Given the description of an element on the screen output the (x, y) to click on. 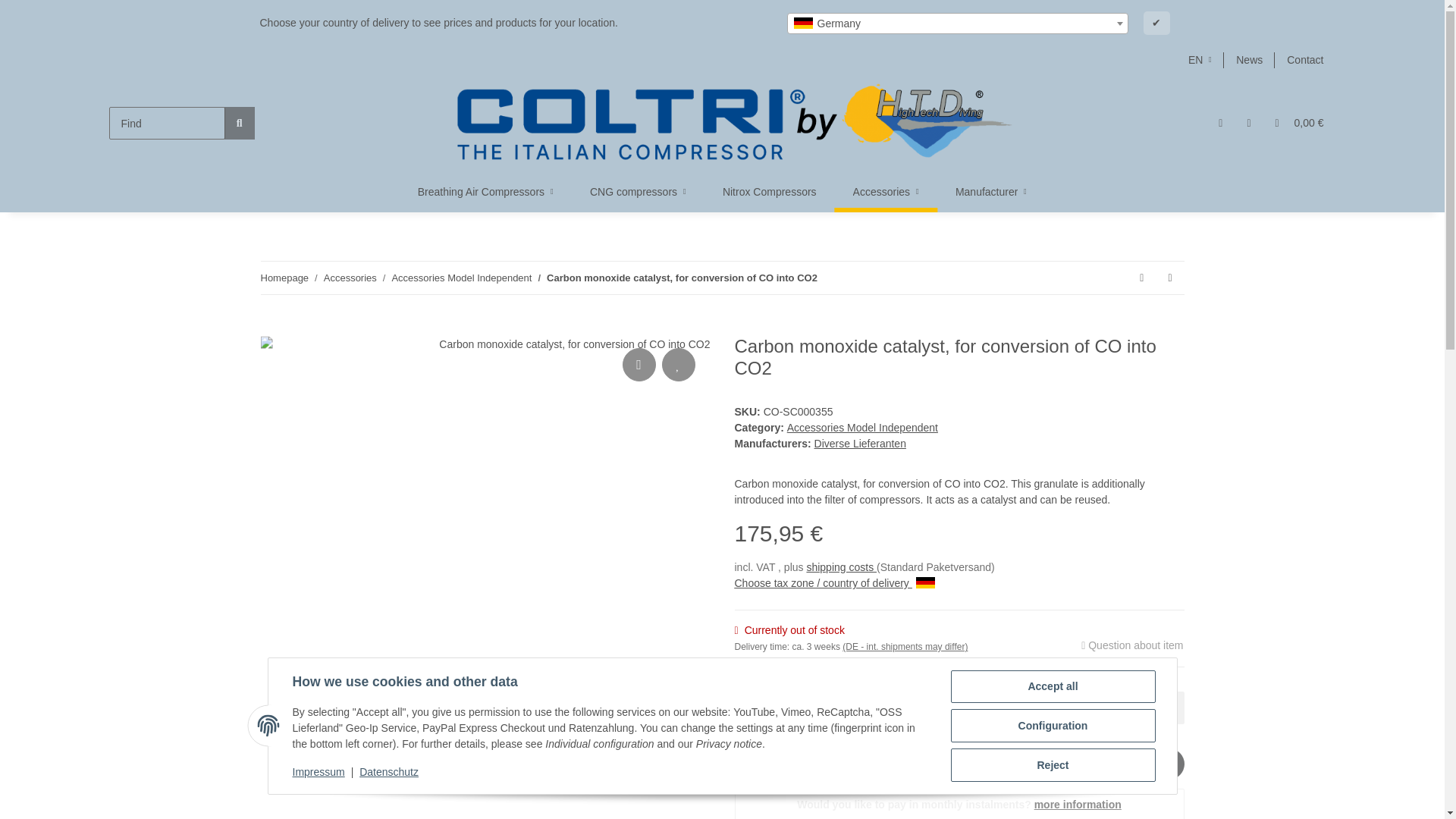
1 (818, 707)
Manufacturers (991, 191)
CNG compressors (638, 191)
News (1249, 59)
Breathing Air Compressors (485, 191)
Accessories (885, 191)
Contact (1305, 59)
Coltri Kompressoren by High Tech Diving (729, 122)
Accessories (885, 191)
Contact-Form (1305, 59)
Manufacturer (991, 191)
Germany (956, 23)
Breathing Air Compressors (485, 191)
Blog (1249, 59)
